Given the description of an element on the screen output the (x, y) to click on. 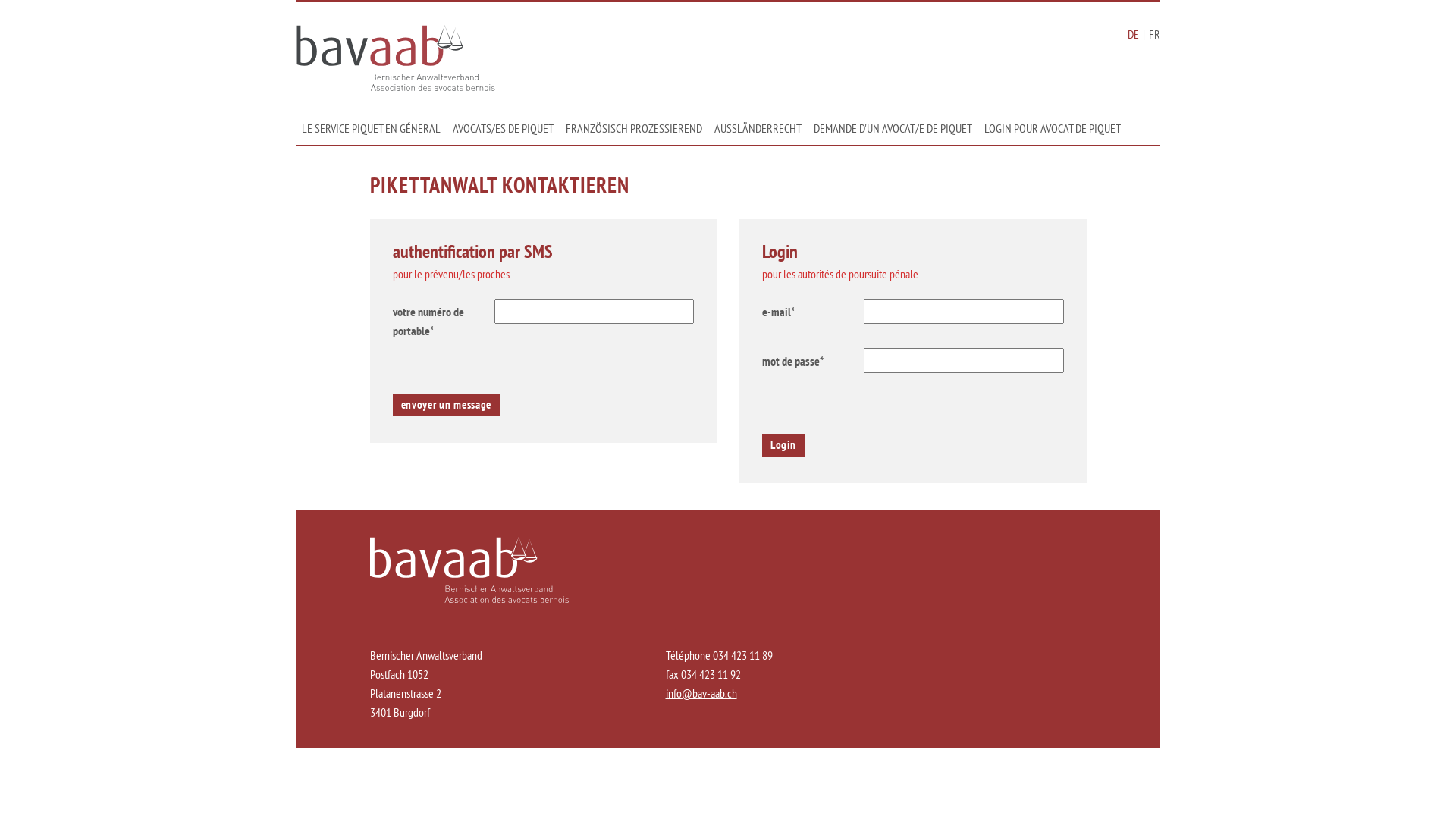
FR Element type: text (1154, 33)
Bernischer Anwaltsverband Element type: hover (469, 597)
LOGIN POUR AVOCAT DE PIQUET Element type: text (1052, 131)
Bernischer Anwaltsverband Element type: hover (395, 60)
DE Element type: text (1133, 33)
DEMANDE D'UN AVOCAT/E DE PIQUET Element type: text (892, 131)
Login Element type: text (783, 444)
envoyer un message Element type: text (446, 404)
AVOCATS/ES DE PIQUET Element type: text (502, 131)
info@bav-aab.ch Element type: text (701, 692)
